Given the description of an element on the screen output the (x, y) to click on. 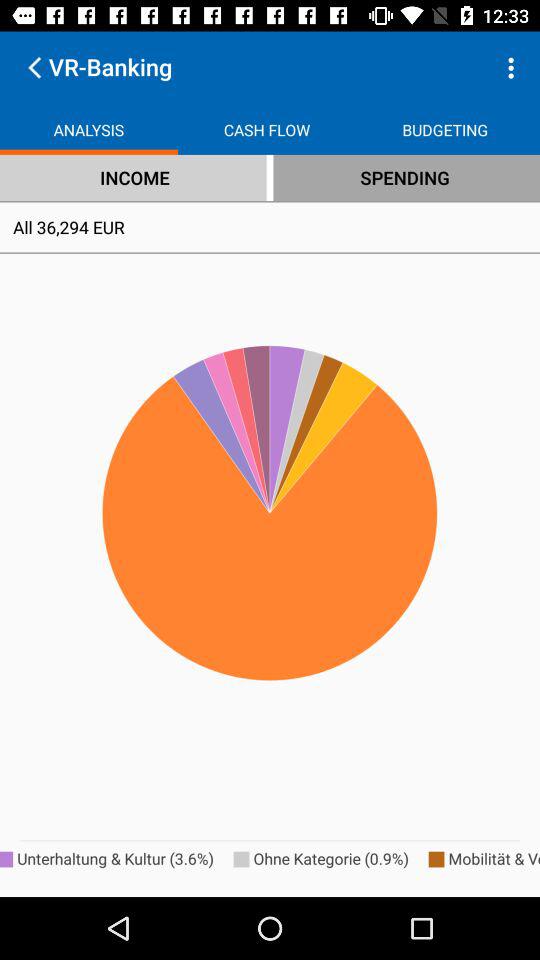
click on the spending (405, 177)
